Given the description of an element on the screen output the (x, y) to click on. 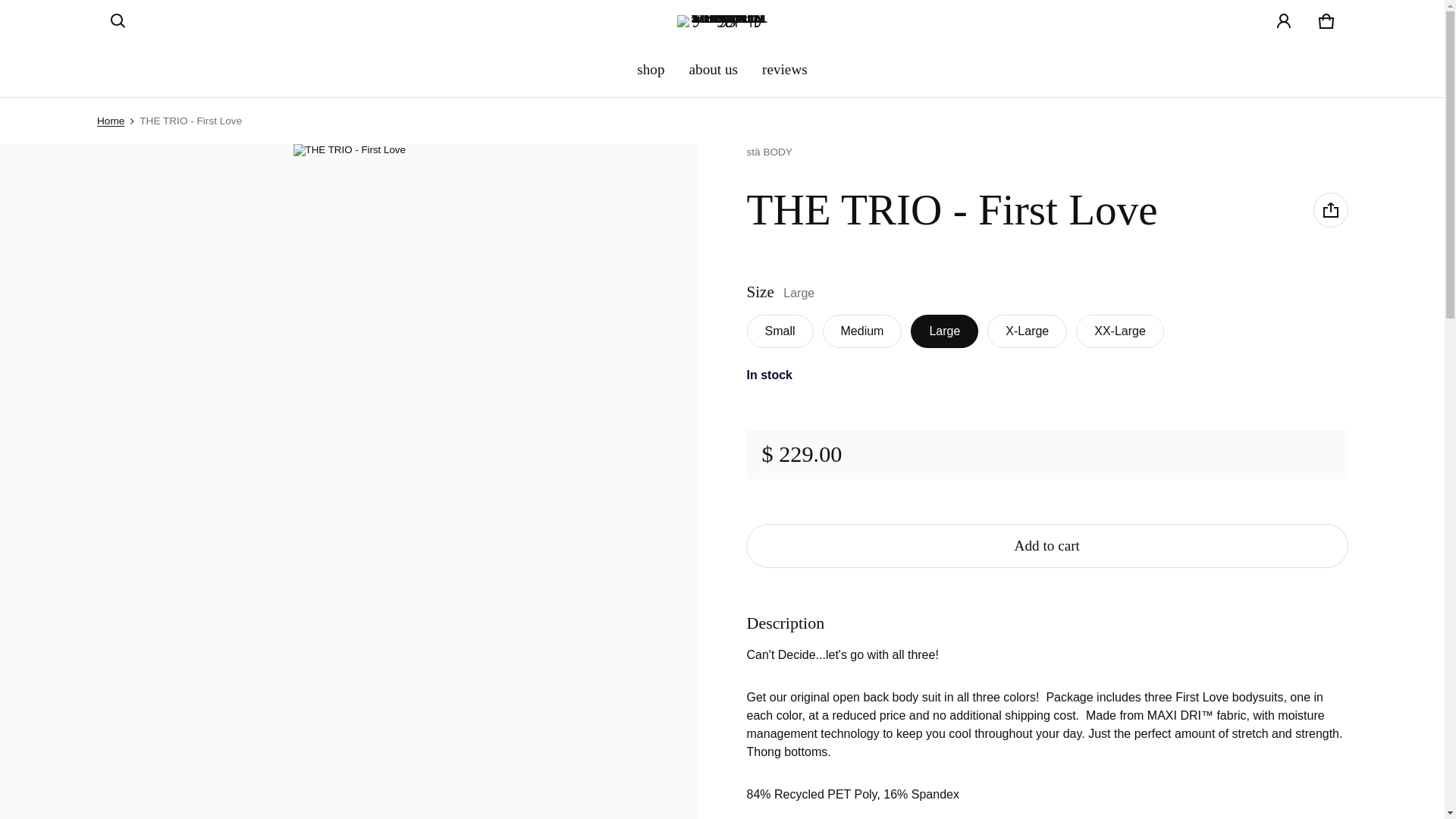
shop (650, 69)
about us (714, 69)
XX-Large (1326, 21)
Home (1046, 545)
Medium (110, 120)
